Given the description of an element on the screen output the (x, y) to click on. 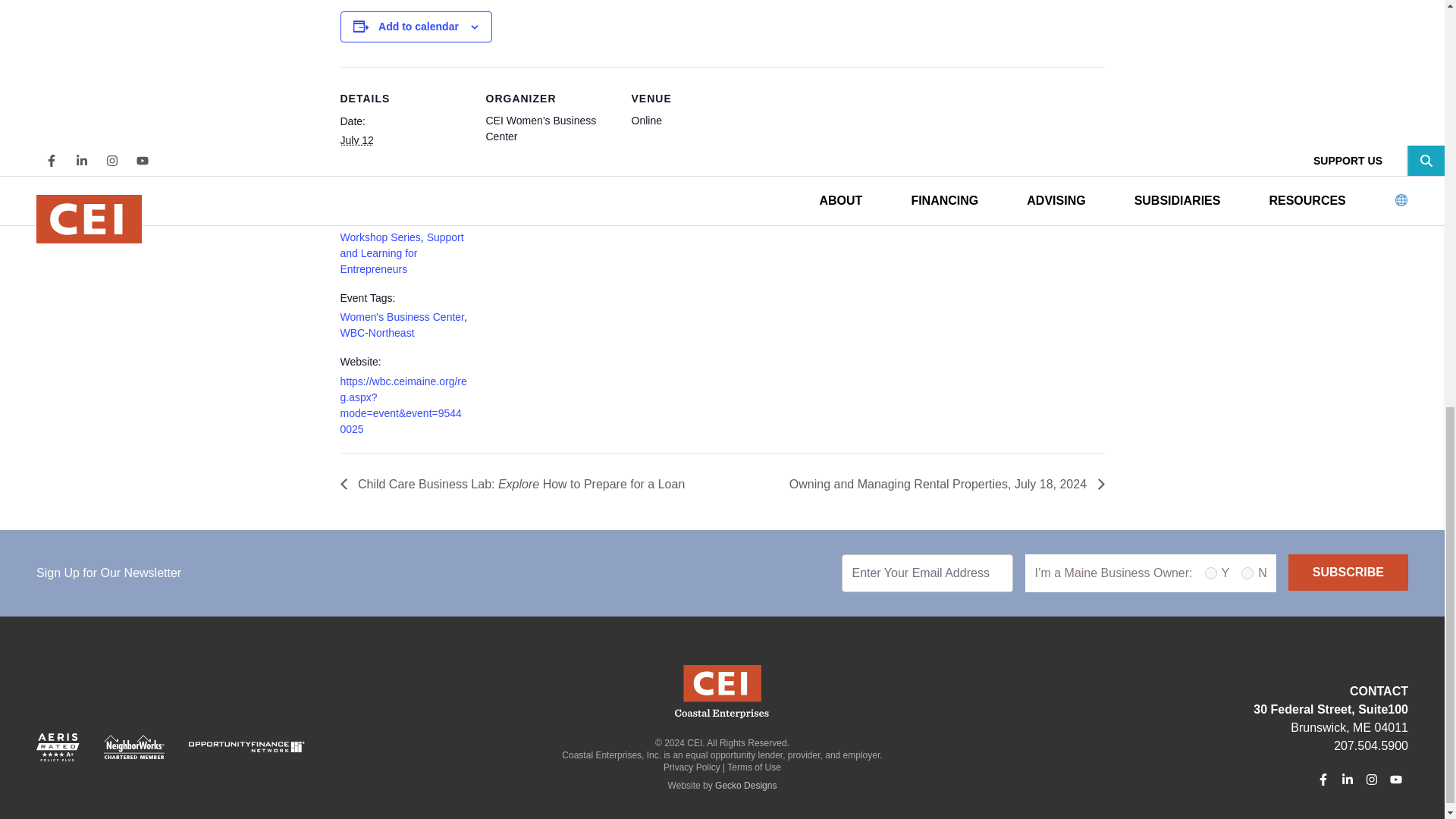
2024-07-12 (355, 140)
Y (1211, 573)
SUBSCRIBE (1347, 572)
2024-07-12 (403, 188)
N (1247, 573)
